Given the description of an element on the screen output the (x, y) to click on. 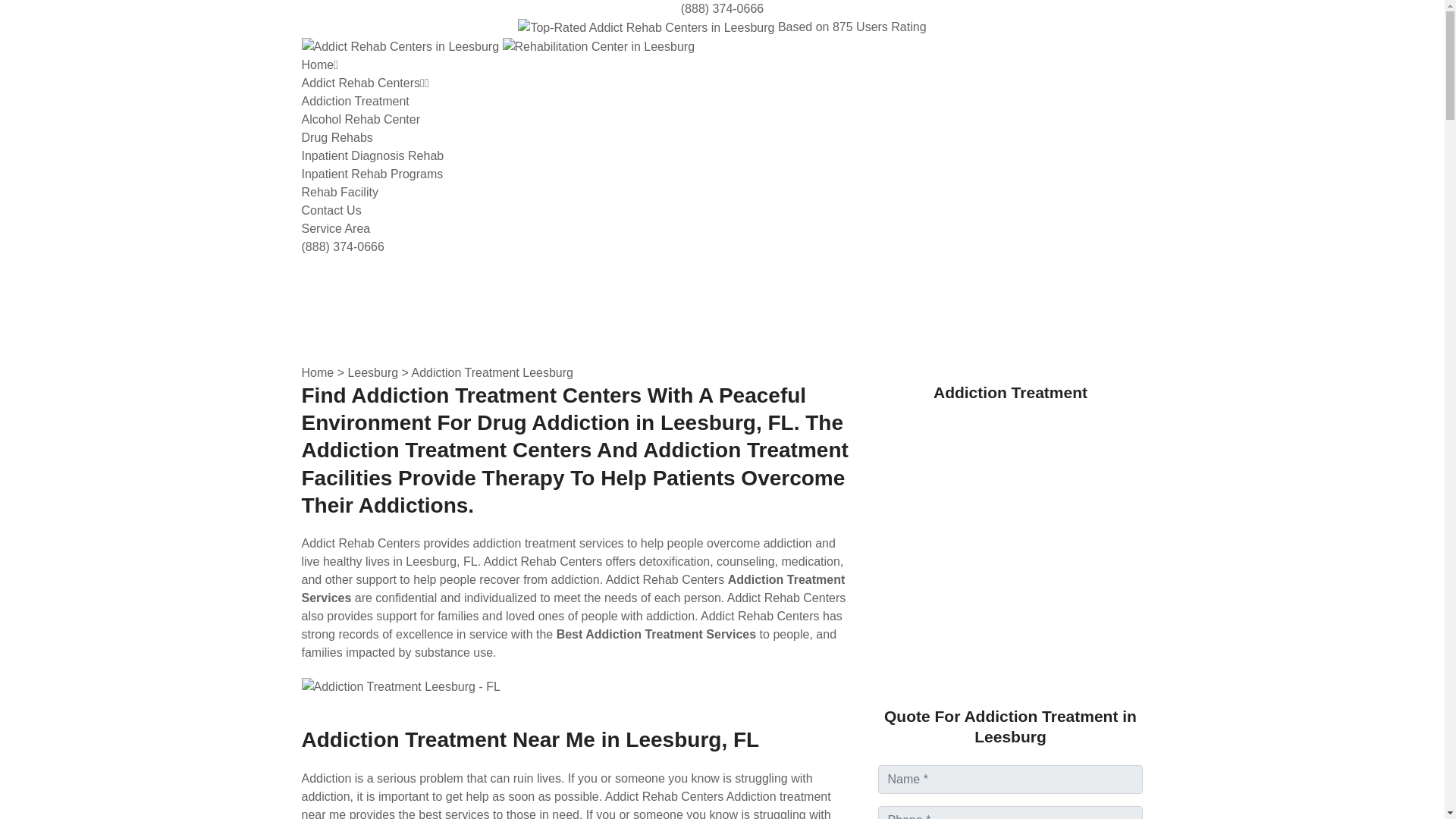
Home (320, 64)
Leesburg (372, 372)
Addiction Treatment Leesburg (491, 372)
Home (317, 372)
Rehab Facility (339, 192)
Alcohol Rehab Center (360, 119)
Addict Rehab Centers (365, 82)
Inpatient Rehab Programs (372, 173)
Addiction Treatment (355, 101)
Inpatient Diagnosis Rehab (372, 155)
Drug Rehabs (336, 137)
Contact Us (331, 210)
Service Area (336, 228)
